Given the description of an element on the screen output the (x, y) to click on. 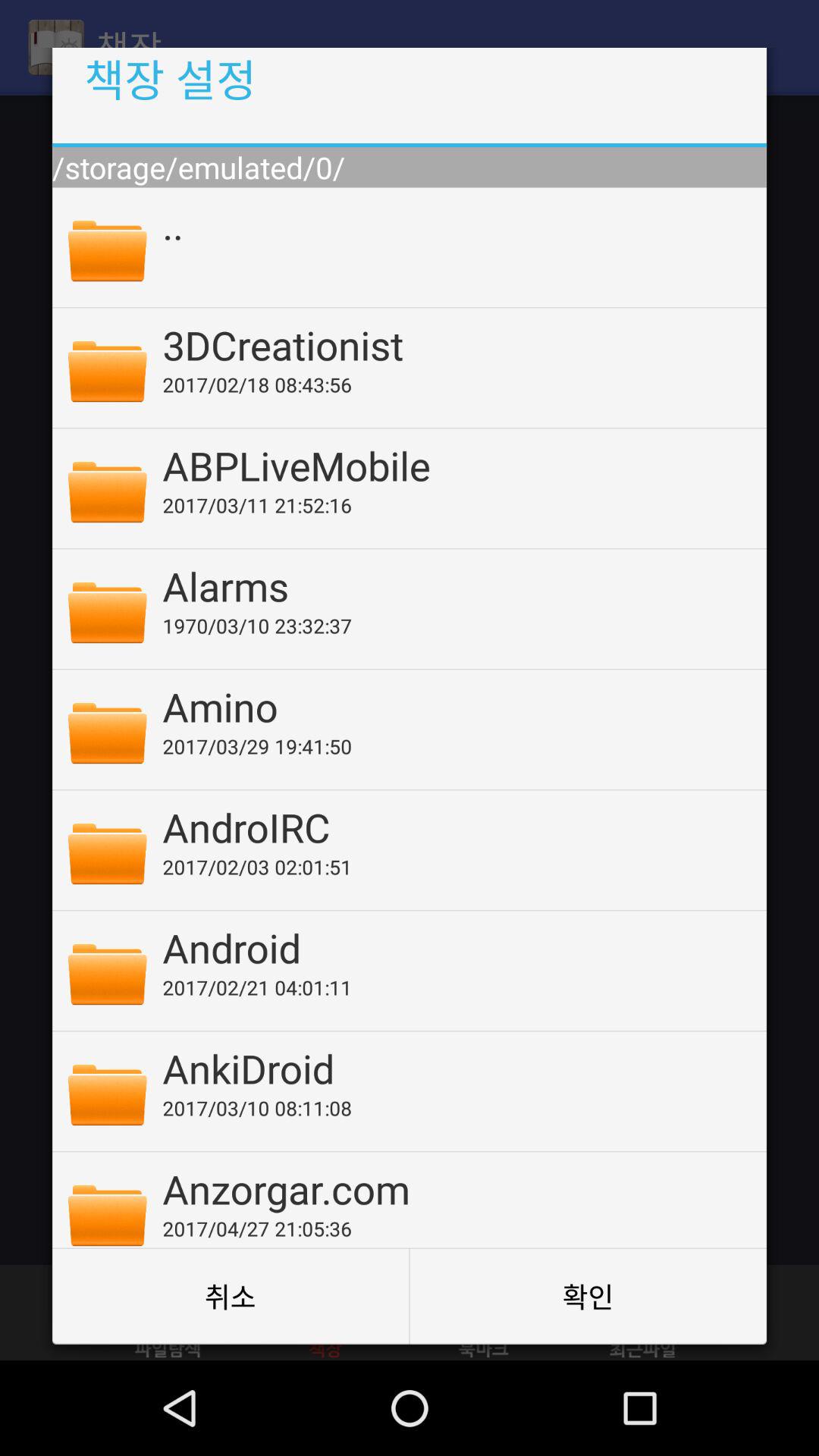
press the app below 2017 02 18 item (454, 465)
